Given the description of an element on the screen output the (x, y) to click on. 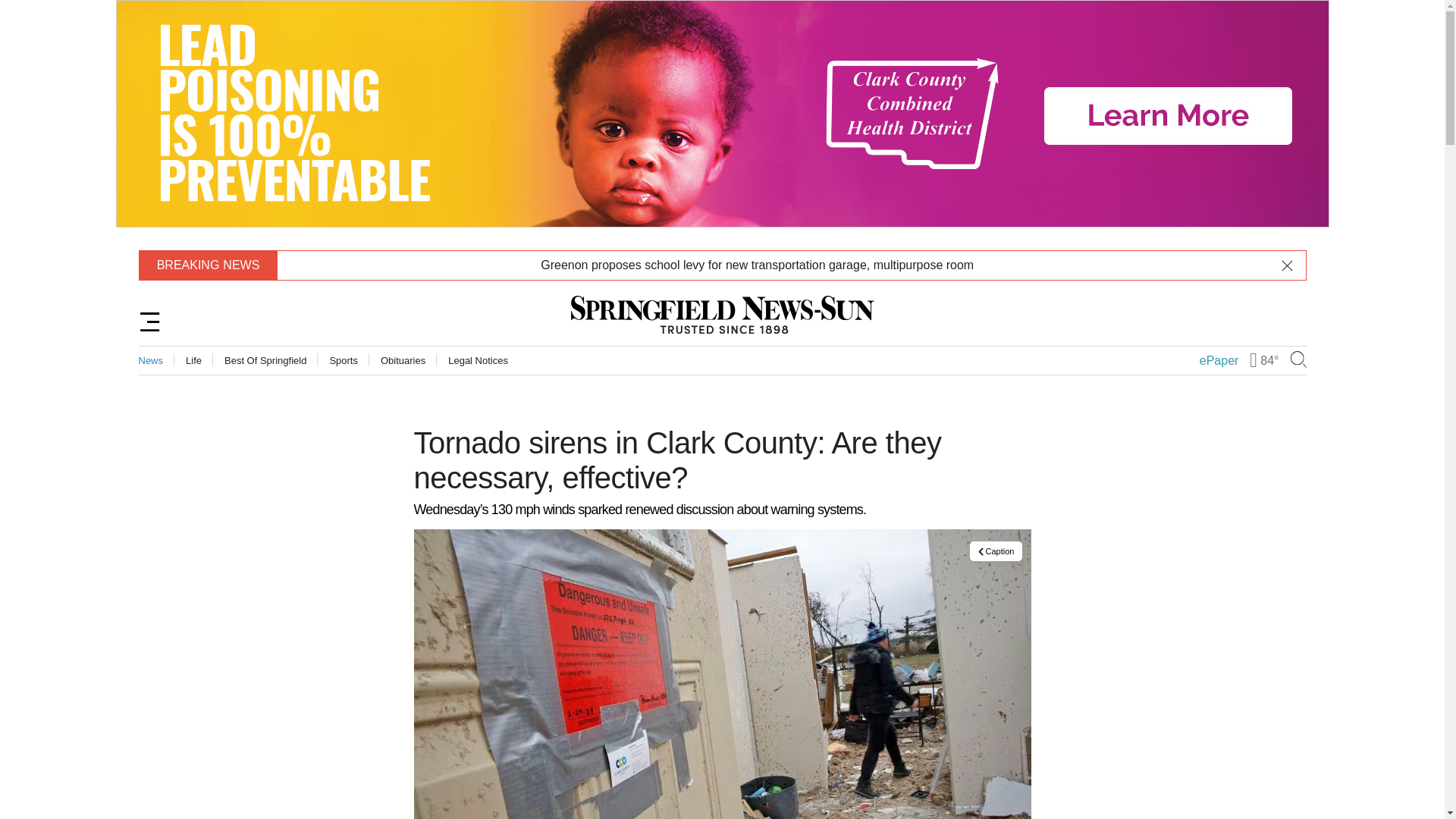
News (150, 360)
ePaper (1219, 360)
Legal Notices (478, 360)
Sports (343, 360)
Obituaries (402, 360)
Life (194, 360)
Best Of Springfield (264, 360)
